Given the description of an element on the screen output the (x, y) to click on. 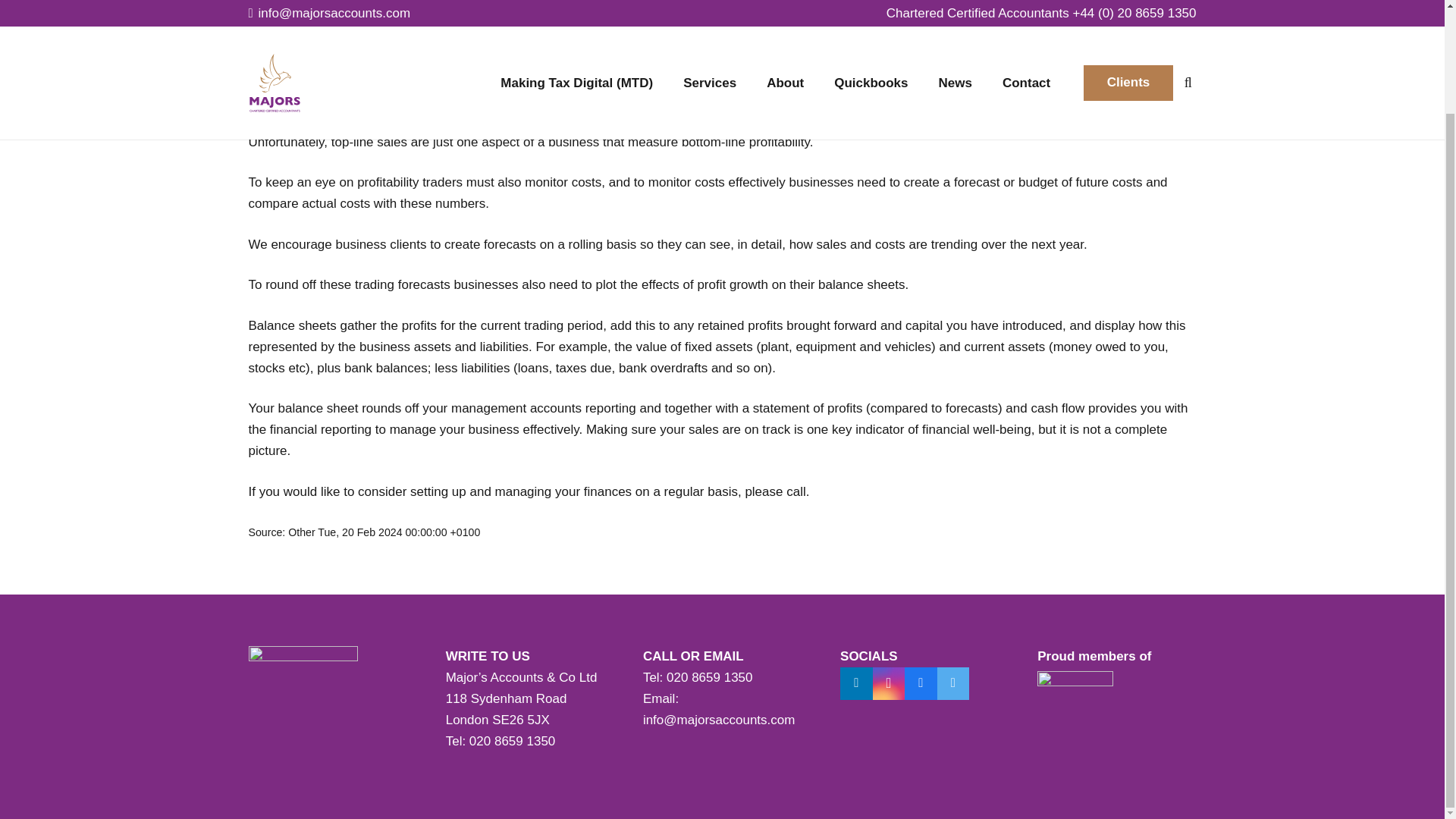
Contact (1026, 9)
Facebook (920, 683)
Instagram (888, 683)
About (784, 9)
Services (709, 9)
News (955, 9)
Twitter (953, 683)
LinkedIn (856, 683)
Quickbooks (870, 9)
